Given the description of an element on the screen output the (x, y) to click on. 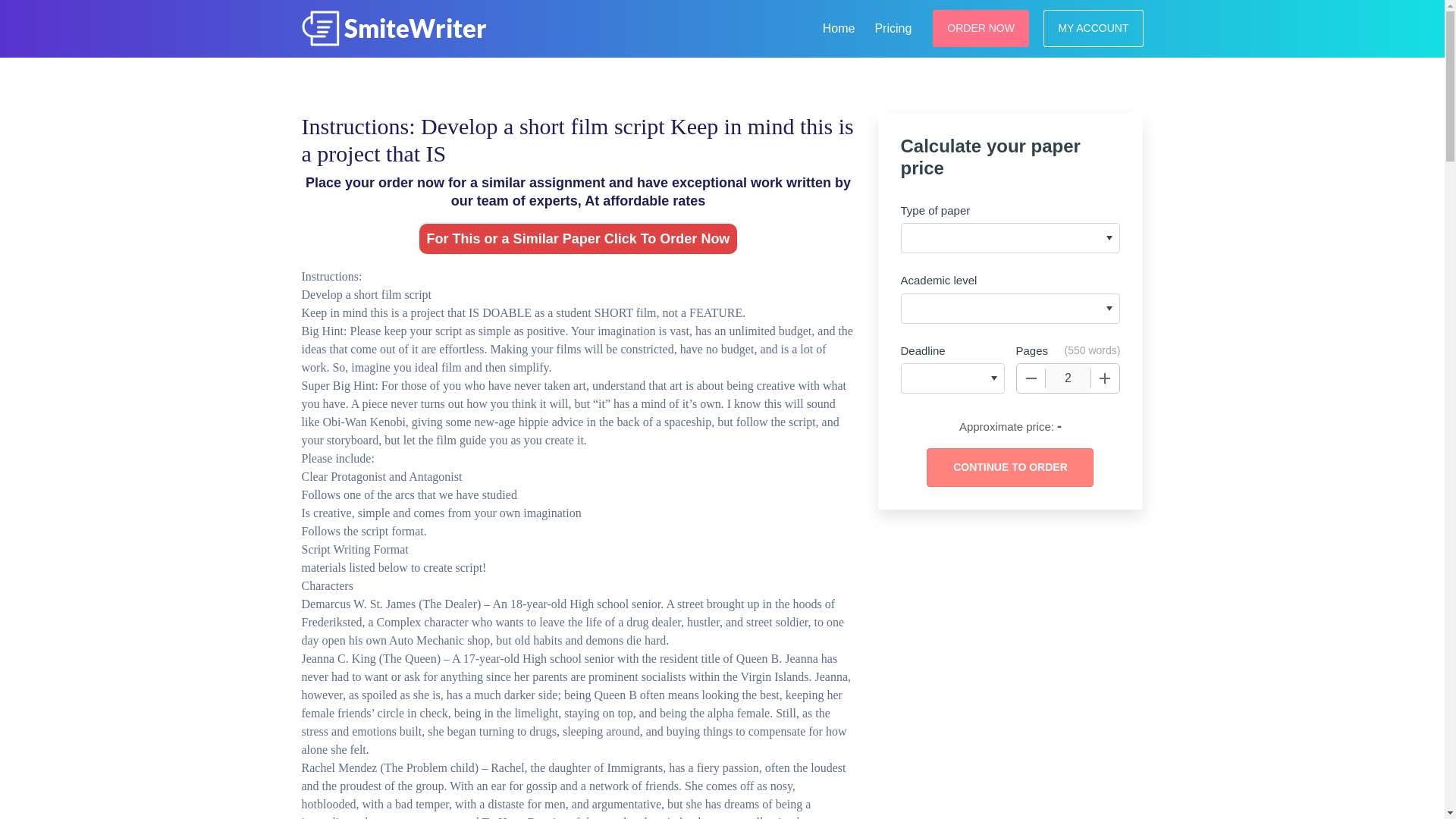
Pricing (892, 26)
For This or a Similar Paper Click To Order Now (578, 238)
Pricing (892, 26)
MY ACCOUNT (1092, 27)
Increase (1104, 378)
ORDER NOW (981, 27)
Continue to order (1009, 466)
Home (838, 26)
Decrease (1030, 378)
2 (1067, 378)
